Given the description of an element on the screen output the (x, y) to click on. 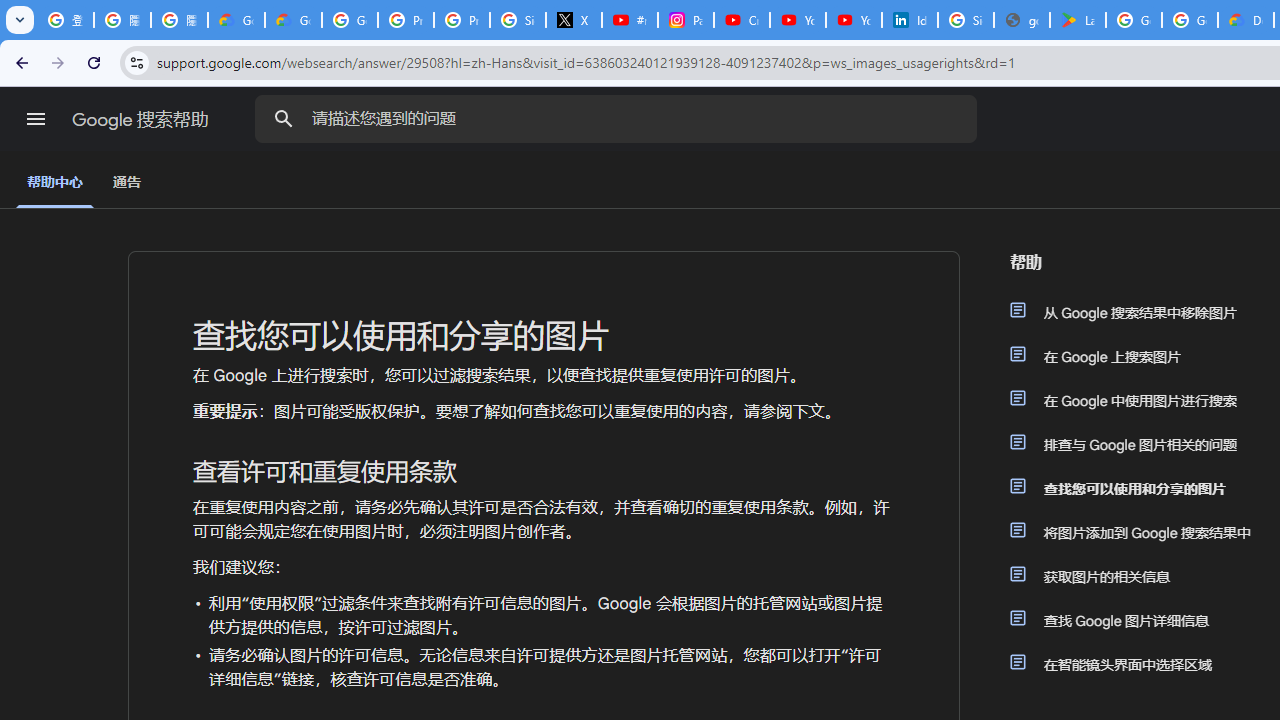
Sign in - Google Accounts (518, 20)
YouTube Culture & Trends - YouTube Top 10, 2021 (853, 20)
Search tabs (20, 20)
